Given the description of an element on the screen output the (x, y) to click on. 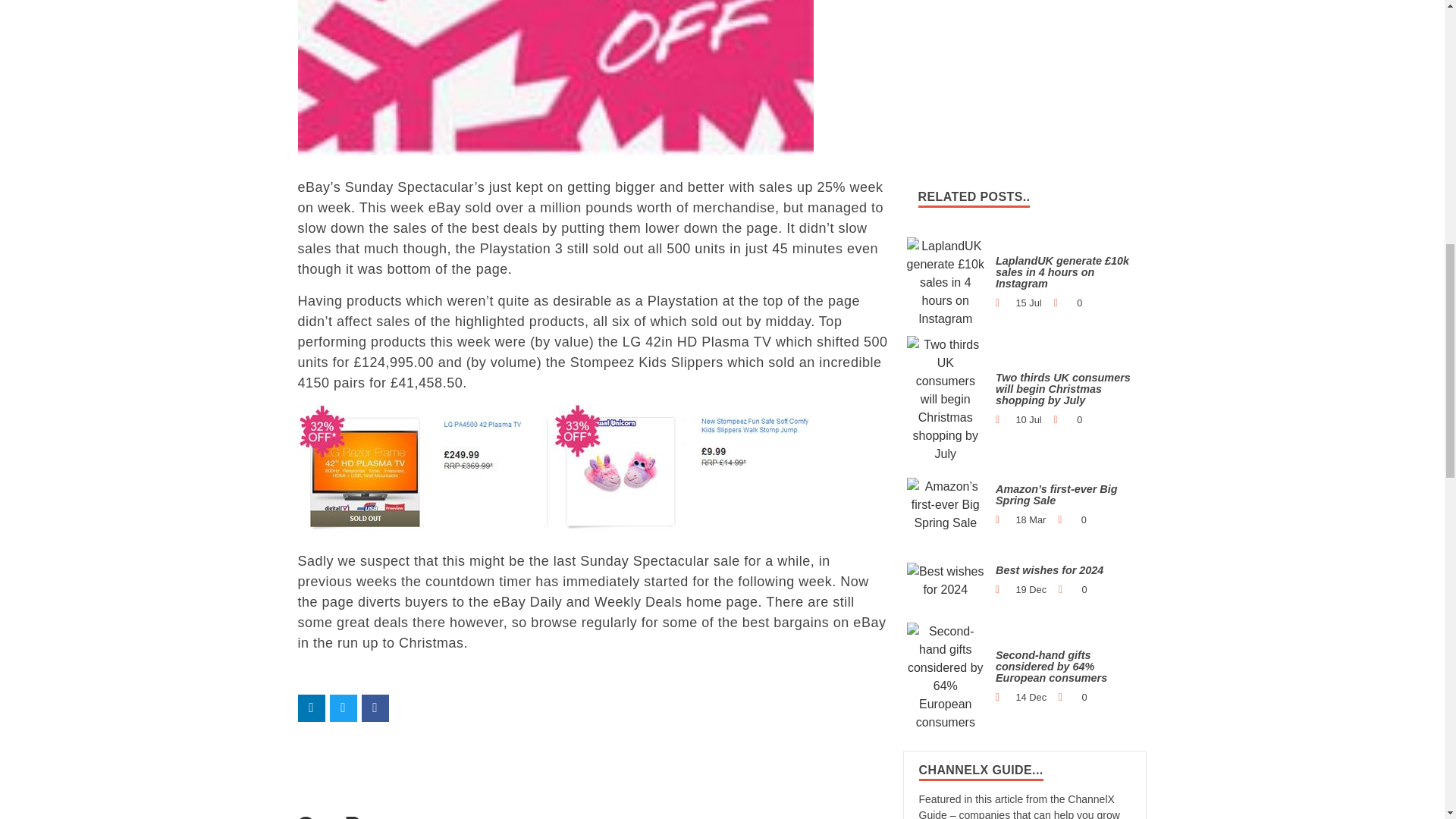
3rd Sunday Spectacular (553, 468)
Best wishes for 2024 (946, 580)
